Given the description of an element on the screen output the (x, y) to click on. 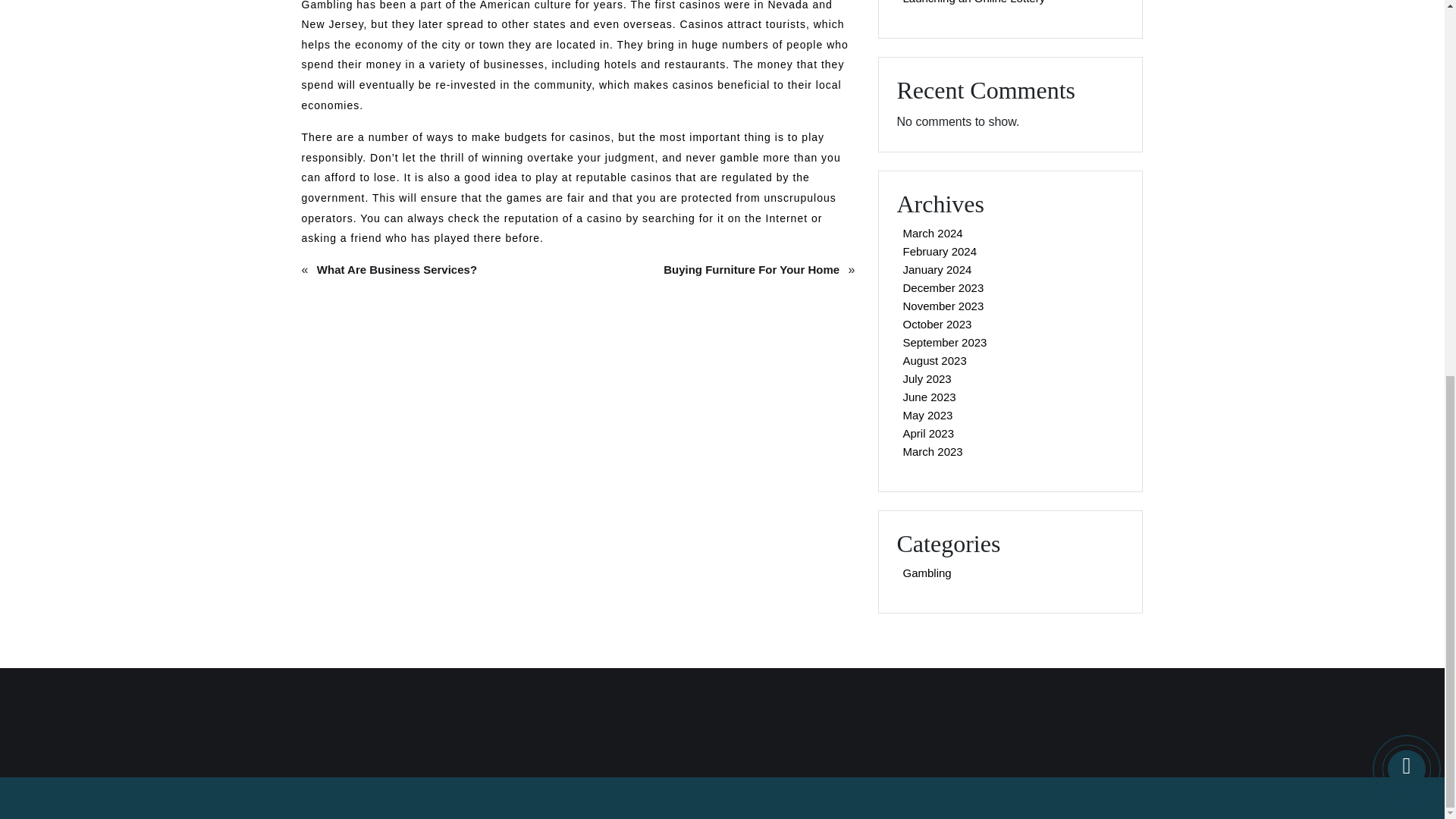
November 2023 (943, 305)
What Are Business Services? (396, 269)
July 2023 (926, 378)
February 2024 (939, 251)
June 2023 (928, 396)
Buying Furniture For Your Home (751, 269)
May 2023 (927, 414)
August 2023 (934, 360)
September 2023 (944, 342)
Launching an Online Lottery (973, 5)
January 2024 (936, 269)
December 2023 (943, 287)
March 2023 (932, 451)
April 2023 (927, 432)
March 2024 (932, 232)
